Given the description of an element on the screen output the (x, y) to click on. 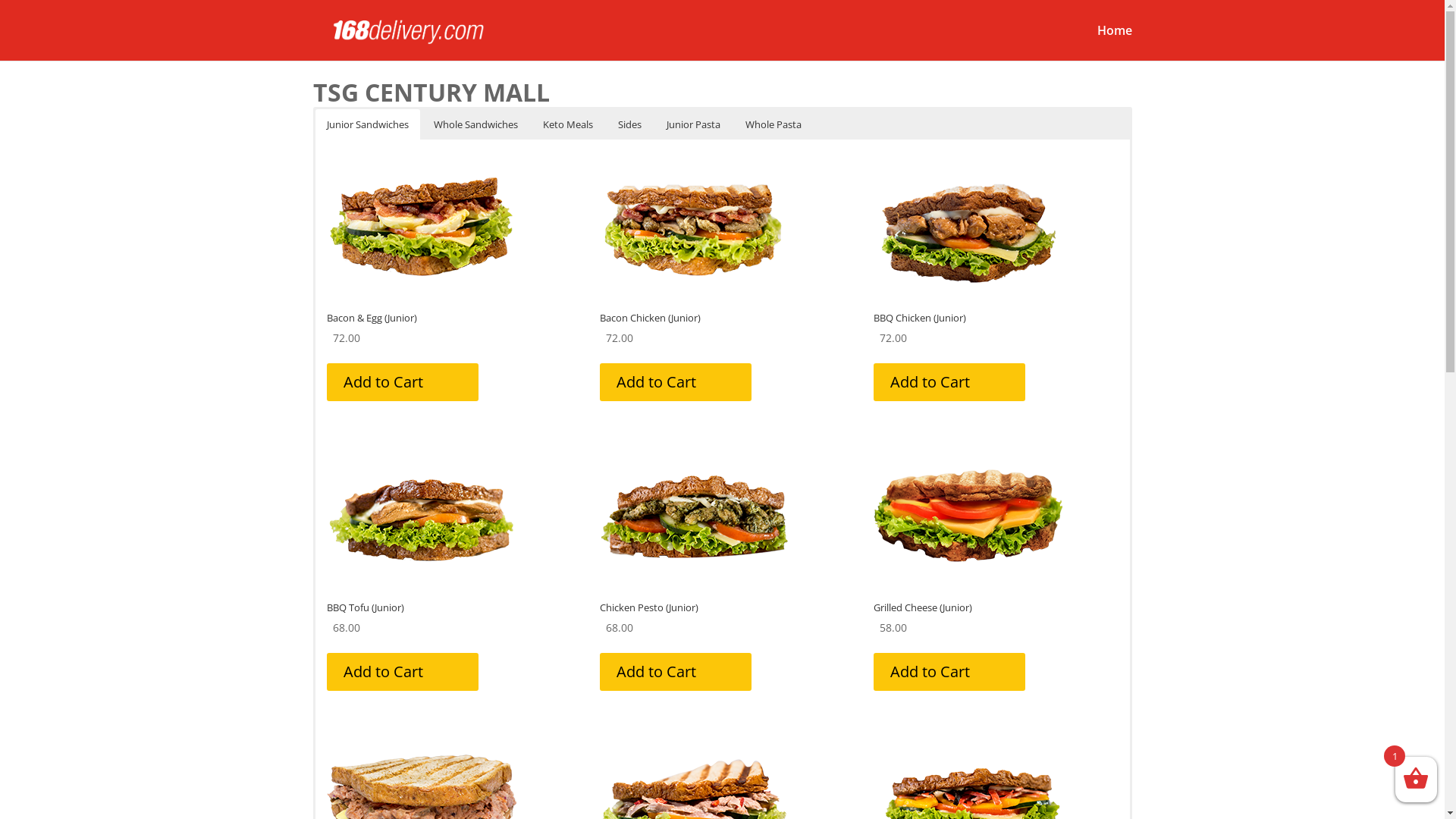
Home Element type: text (1113, 42)
Add to Cart Element type: text (949, 382)
Add to Cart Element type: text (675, 671)
Add to Cart Element type: text (949, 671)
Add to Cart Element type: text (401, 671)
Add to Cart Element type: text (675, 382)
Add to Cart Element type: text (401, 382)
